Given the description of an element on the screen output the (x, y) to click on. 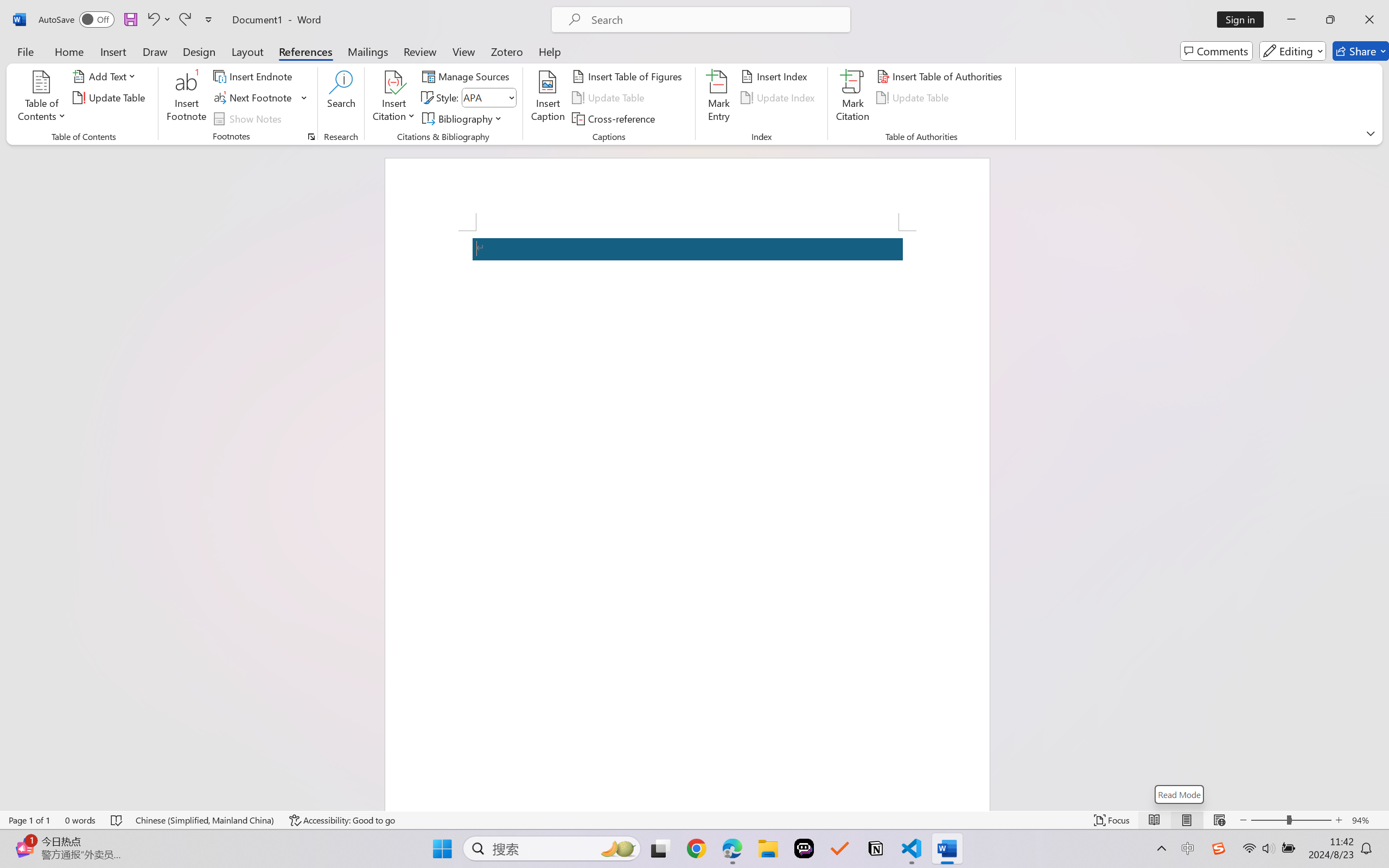
Insert Endnote (253, 75)
Table of Contents (42, 97)
Language Chinese (Simplified, Mainland China) (205, 819)
Update Table... (110, 97)
Show Notes (248, 118)
